Given the description of an element on the screen output the (x, y) to click on. 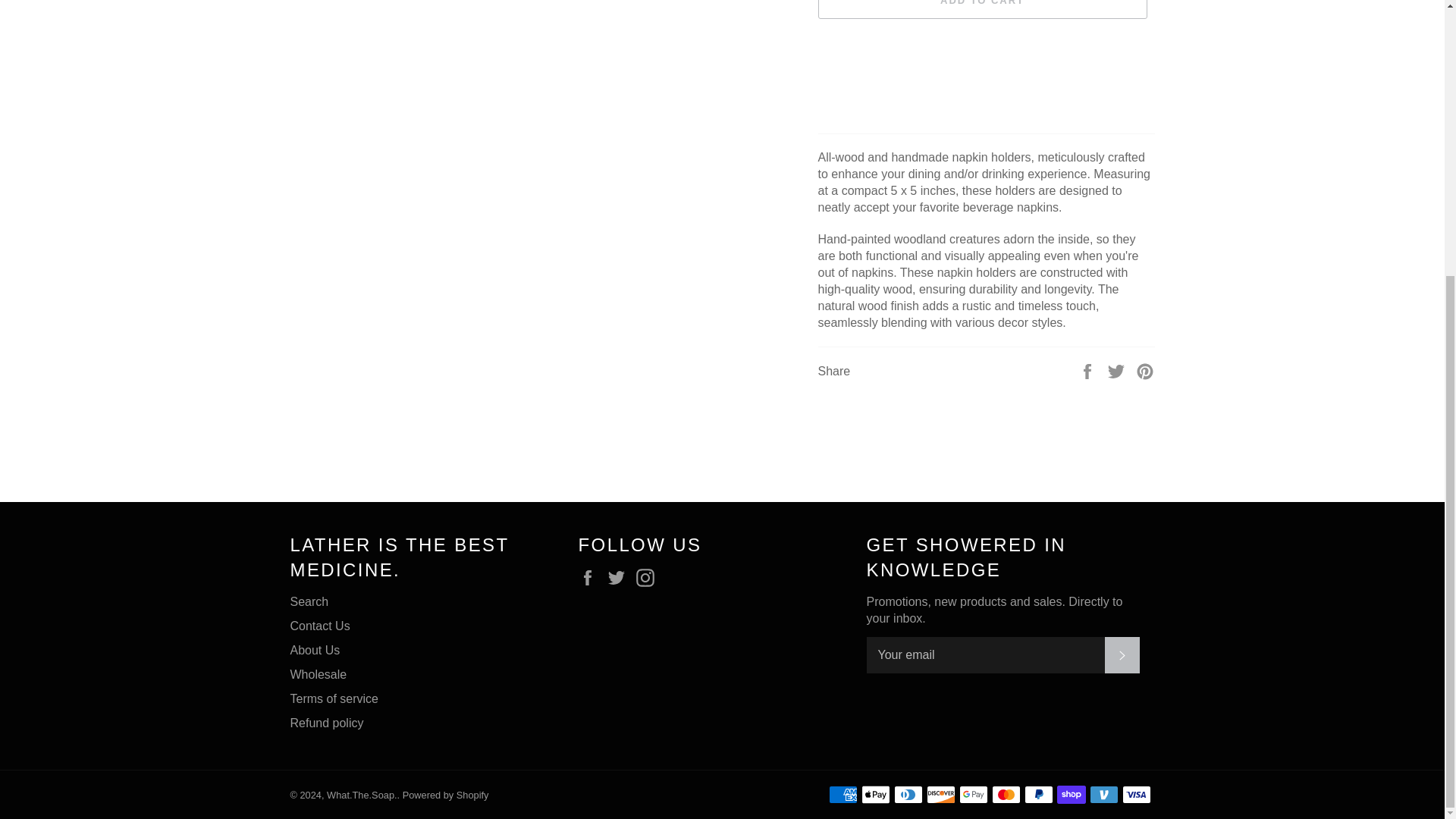
What.The.Soap. on Facebook (591, 577)
What.The.Soap. on Twitter (620, 577)
Tweet on Twitter (1117, 369)
Share on Facebook (1088, 369)
Share on Facebook (1088, 369)
Pin on Pinterest (1144, 369)
Tweet on Twitter (1117, 369)
ADD TO CART (981, 9)
What.The.Soap. on Instagram (649, 577)
